Given the description of an element on the screen output the (x, y) to click on. 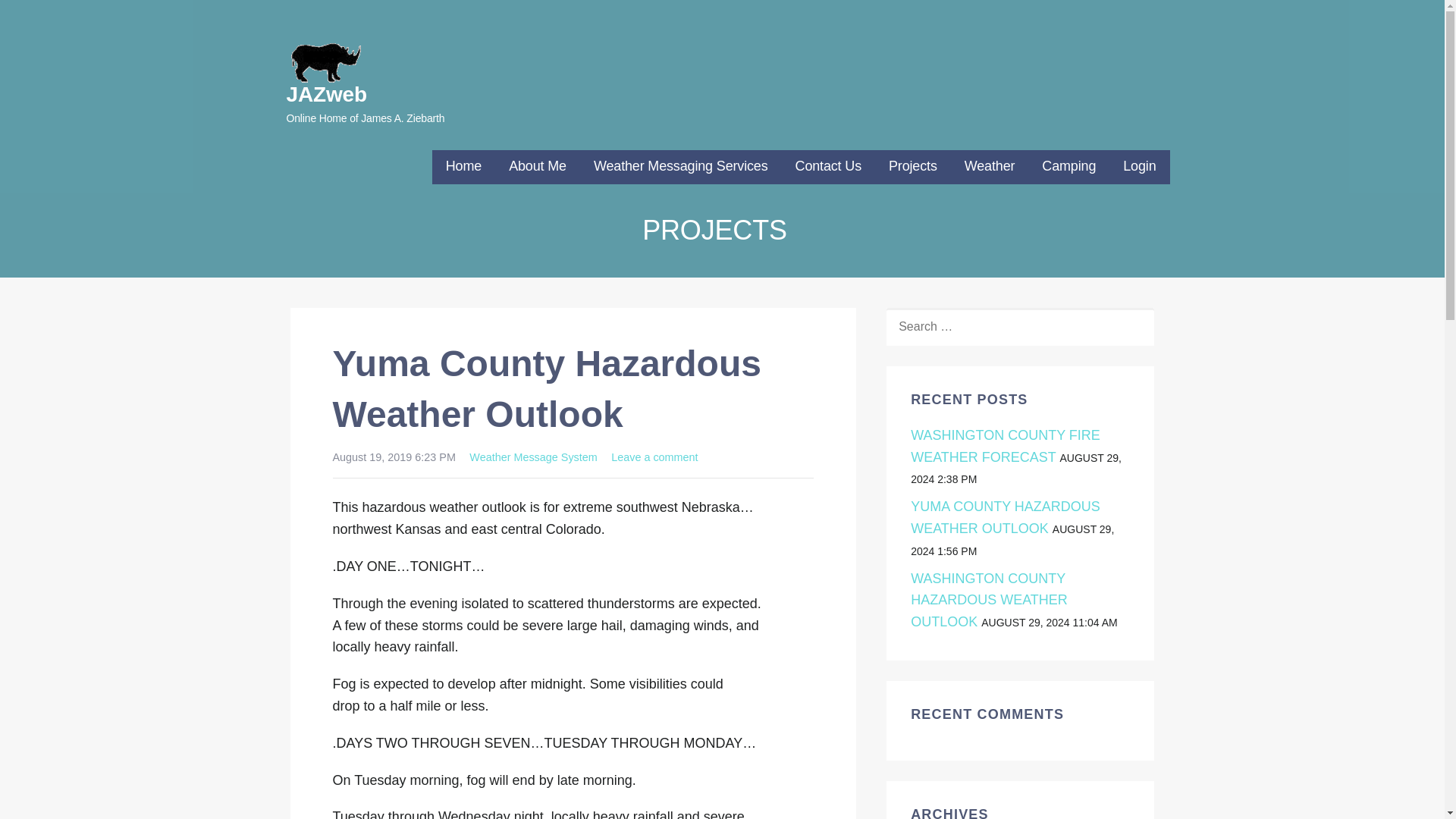
WASHINGTON COUNTY HAZARDOUS WEATHER OUTLOOK (989, 599)
JAZweb (326, 94)
Contact Us (827, 166)
Login (1139, 166)
WASHINGTON COUNTY FIRE WEATHER FORECAST (1005, 446)
Weather Message System (532, 457)
Search (47, 17)
Projects (912, 166)
Home (463, 166)
Posts by Weather Message System (532, 457)
